Given the description of an element on the screen output the (x, y) to click on. 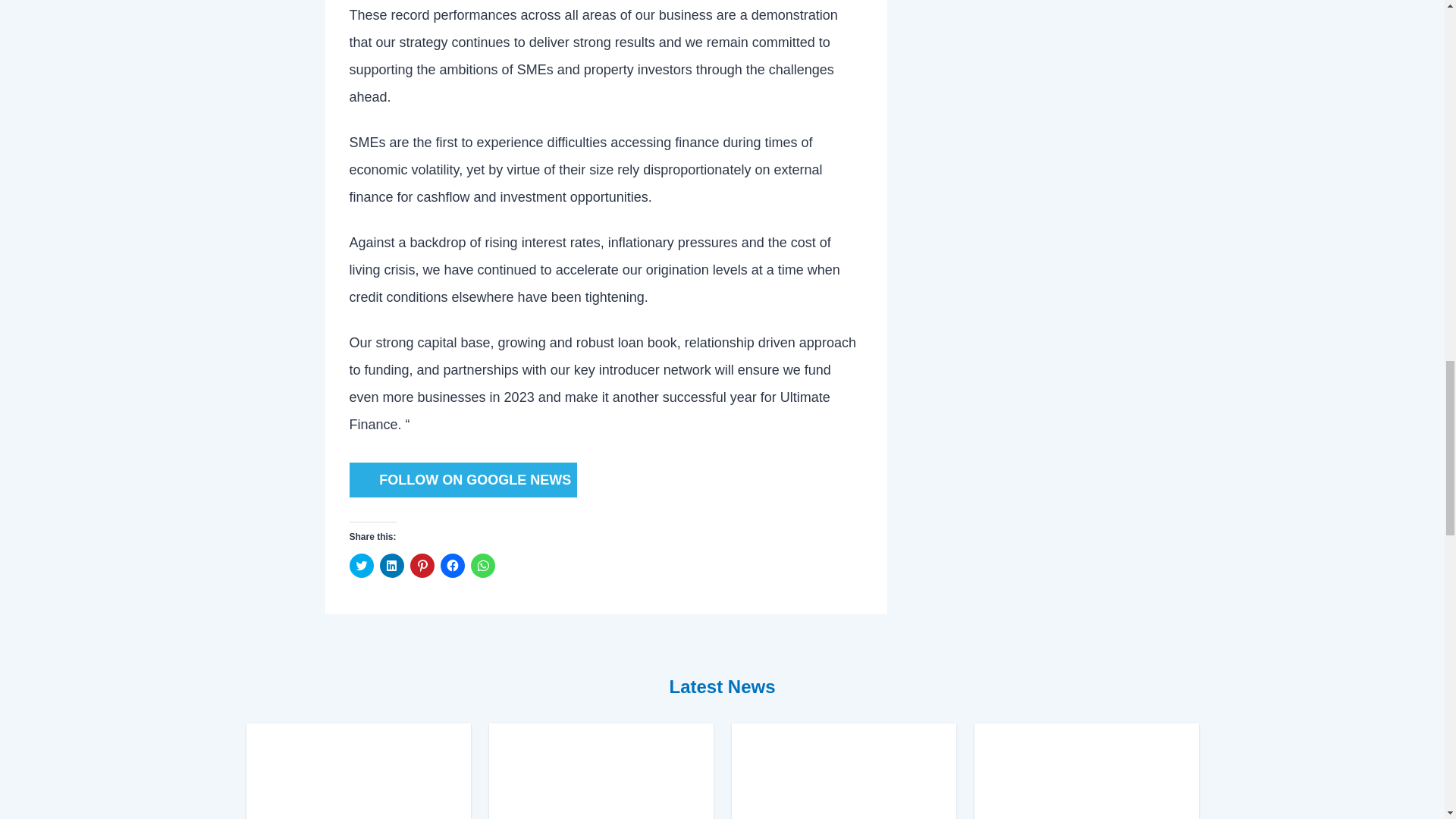
Click to share on Twitter (360, 565)
Click to share on Pinterest (421, 565)
Click to share on WhatsApp (482, 565)
Click to share on Facebook (451, 565)
Click to share on LinkedIn (390, 565)
